Given the description of an element on the screen output the (x, y) to click on. 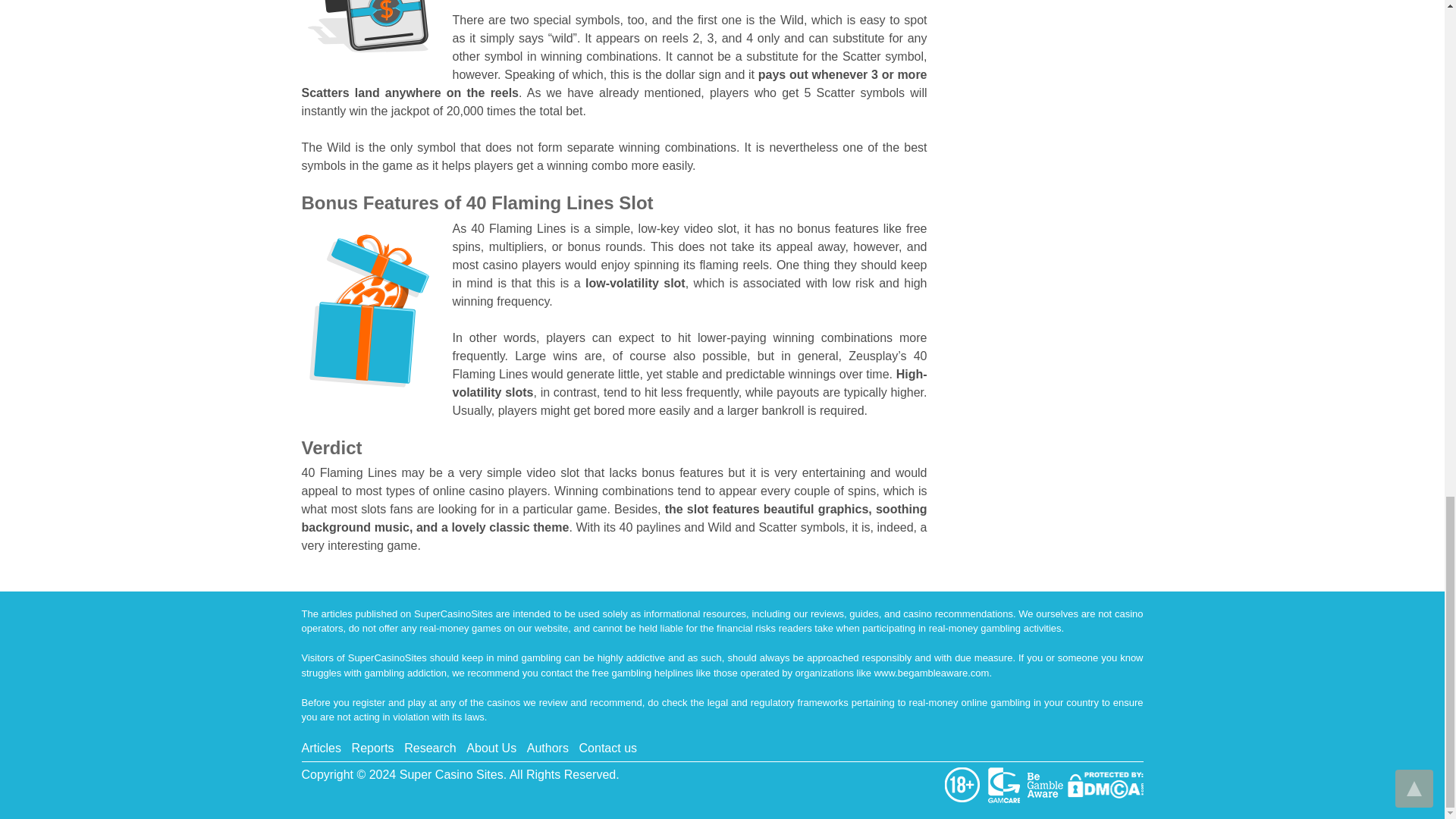
DMCA.com Protection Status (1104, 784)
Gamble Awere (1046, 784)
Gam Care (1005, 784)
